Given the description of an element on the screen output the (x, y) to click on. 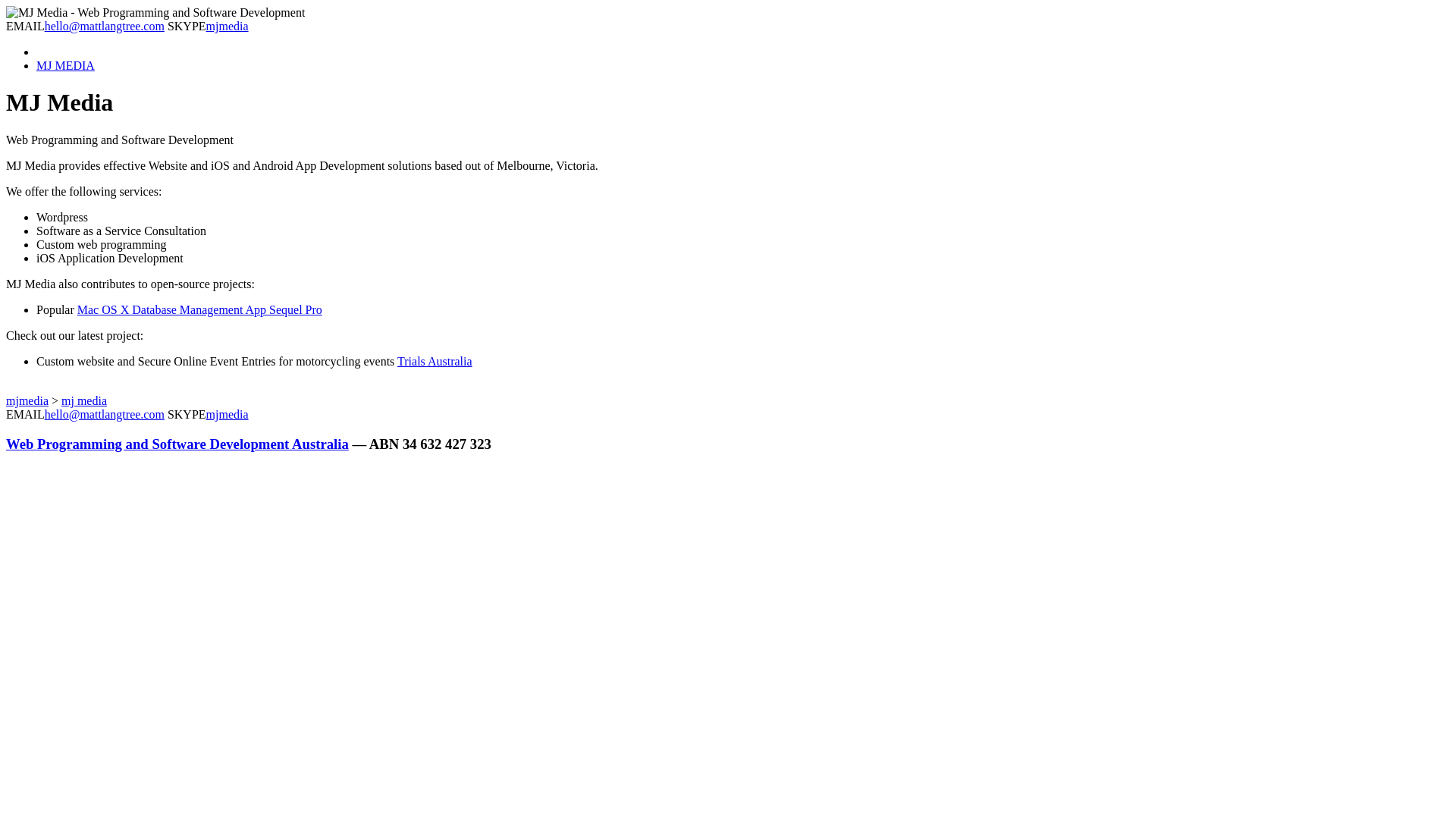
Trials Australia Element type: text (434, 360)
hello@mattlangtree.com Element type: text (104, 25)
mjmedia Element type: text (227, 413)
Mac OS X Database Management App Sequel Pro Element type: text (199, 309)
MJ MEDIA Element type: text (65, 65)
hello@mattlangtree.com Element type: text (104, 413)
mjmedia Element type: text (227, 25)
Web Programming and Software Development Australia Element type: text (177, 443)
mjmedia Element type: text (27, 400)
mj media Element type: text (83, 400)
